Given the description of an element on the screen output the (x, y) to click on. 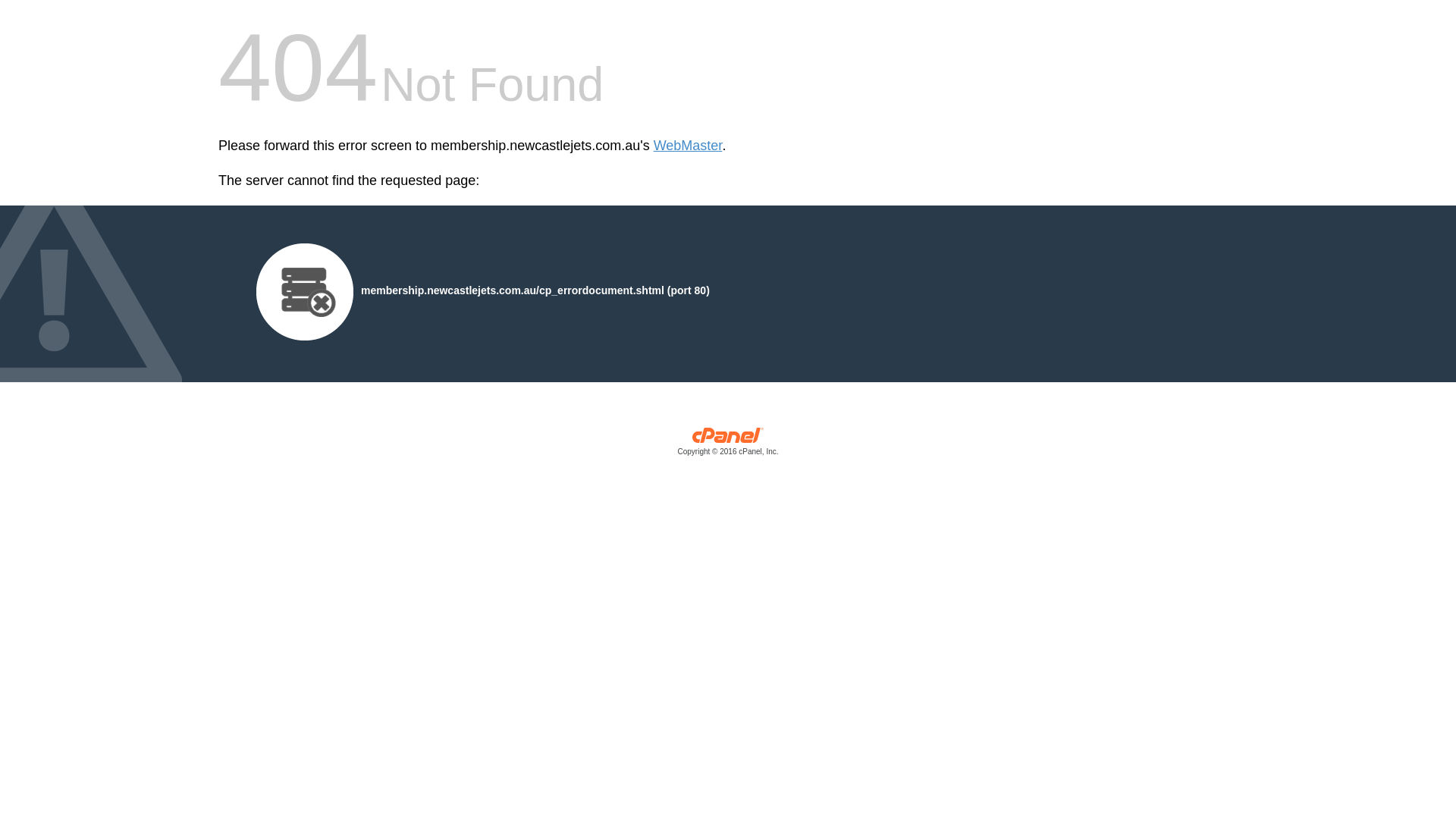
WebMaster Element type: text (687, 145)
